Given the description of an element on the screen output the (x, y) to click on. 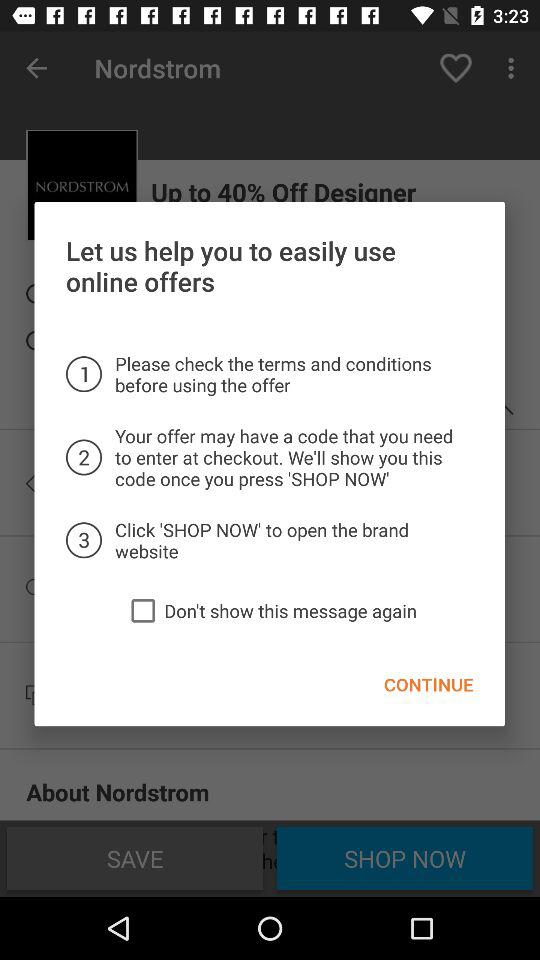
press icon next to don t show item (143, 610)
